Given the description of an element on the screen output the (x, y) to click on. 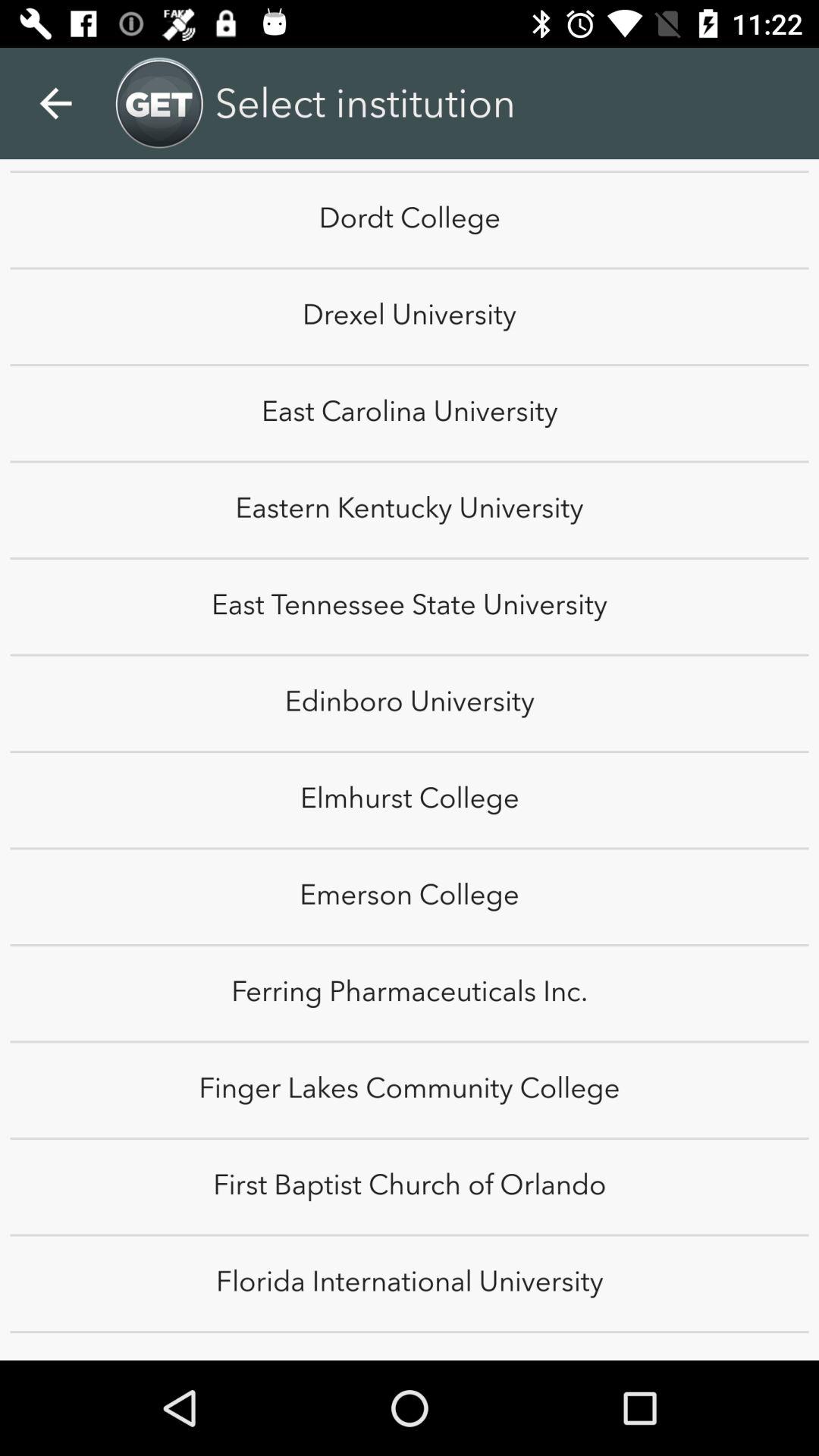
open the item above the dordt college item (779, 87)
